Given the description of an element on the screen output the (x, y) to click on. 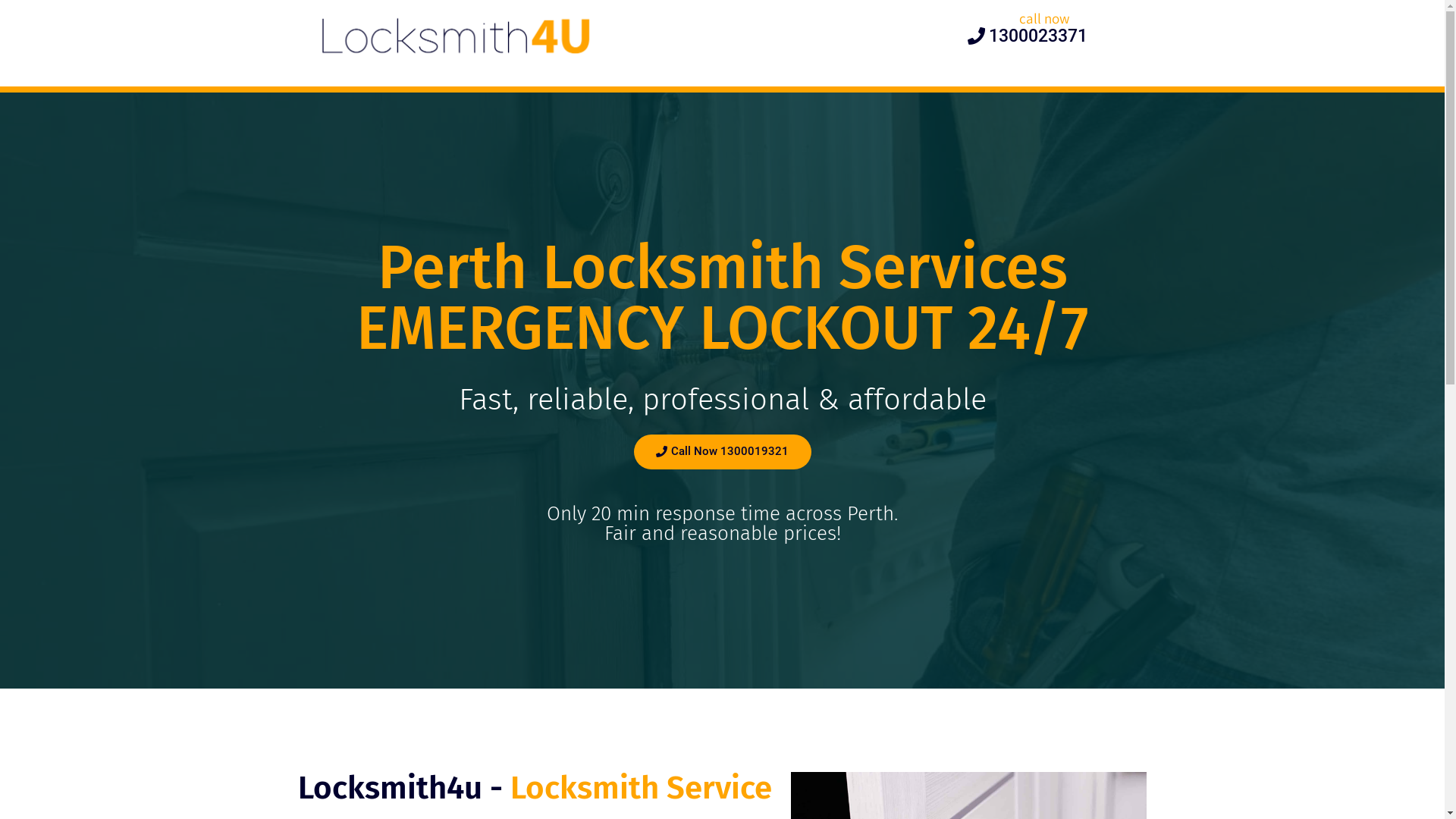
1300023371 Element type: text (1027, 36)
Call Now 1300019321 Element type: text (722, 451)
